Given the description of an element on the screen output the (x, y) to click on. 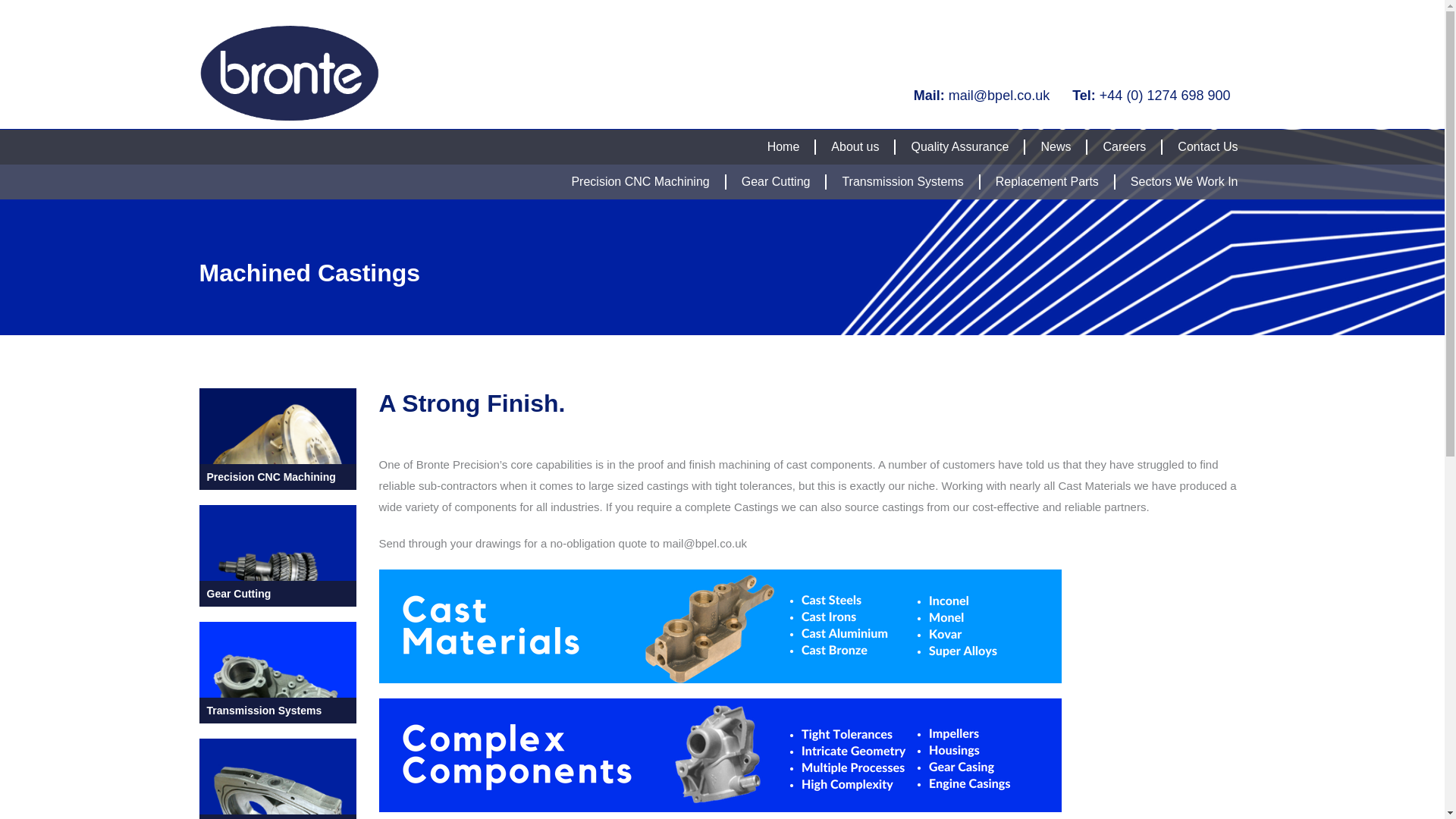
Transmission Systems (901, 181)
News (1055, 146)
Careers (1123, 146)
Home (783, 146)
Replacement Parts (1047, 181)
About us (855, 146)
Precision CNC Machining (639, 181)
Contact Us (1207, 146)
Gear Cutting (775, 181)
Sectors We Work In (1185, 181)
Quality Assurance (960, 146)
